Given the description of an element on the screen output the (x, y) to click on. 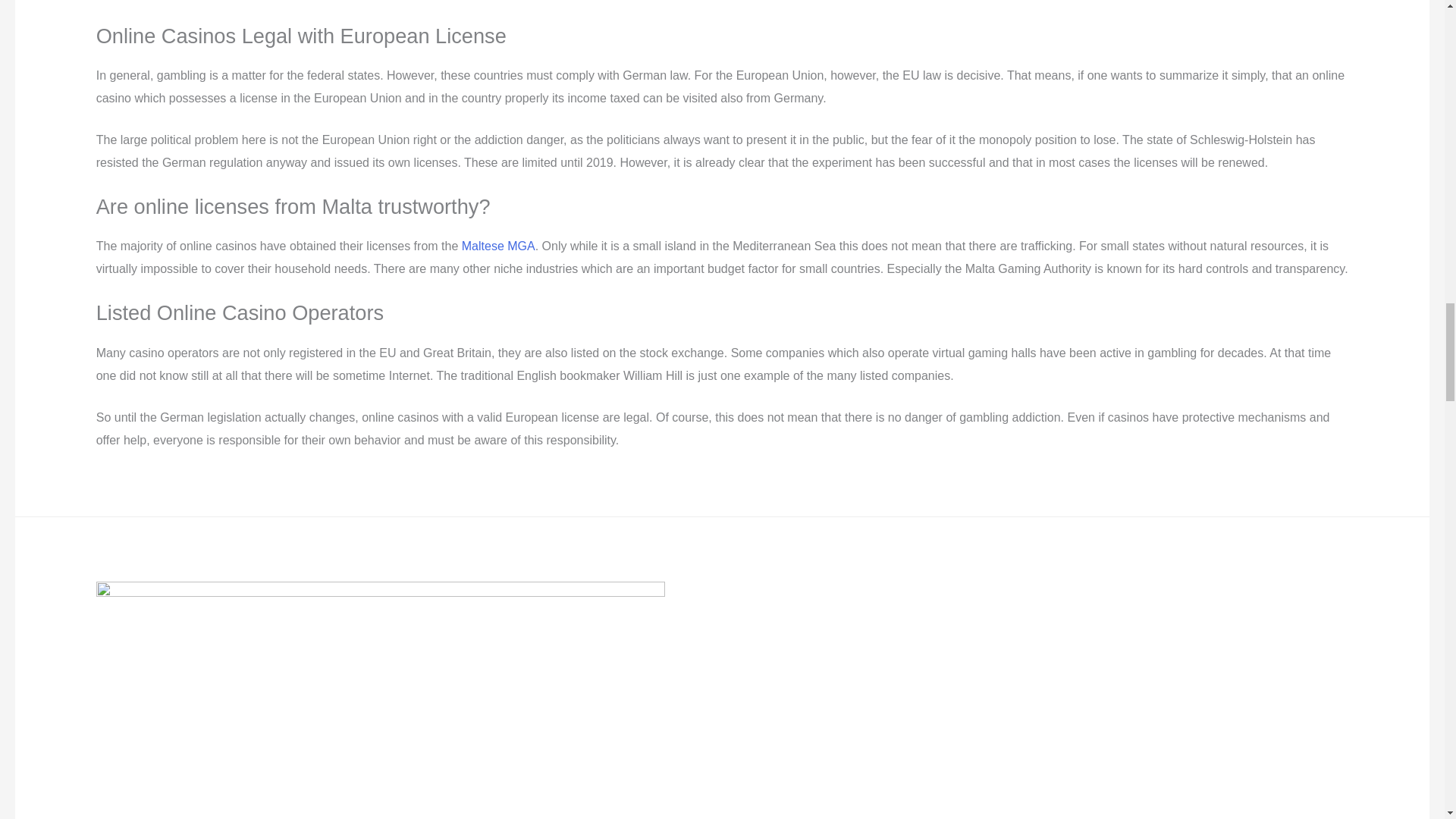
Maltese MGA (498, 245)
